Given the description of an element on the screen output the (x, y) to click on. 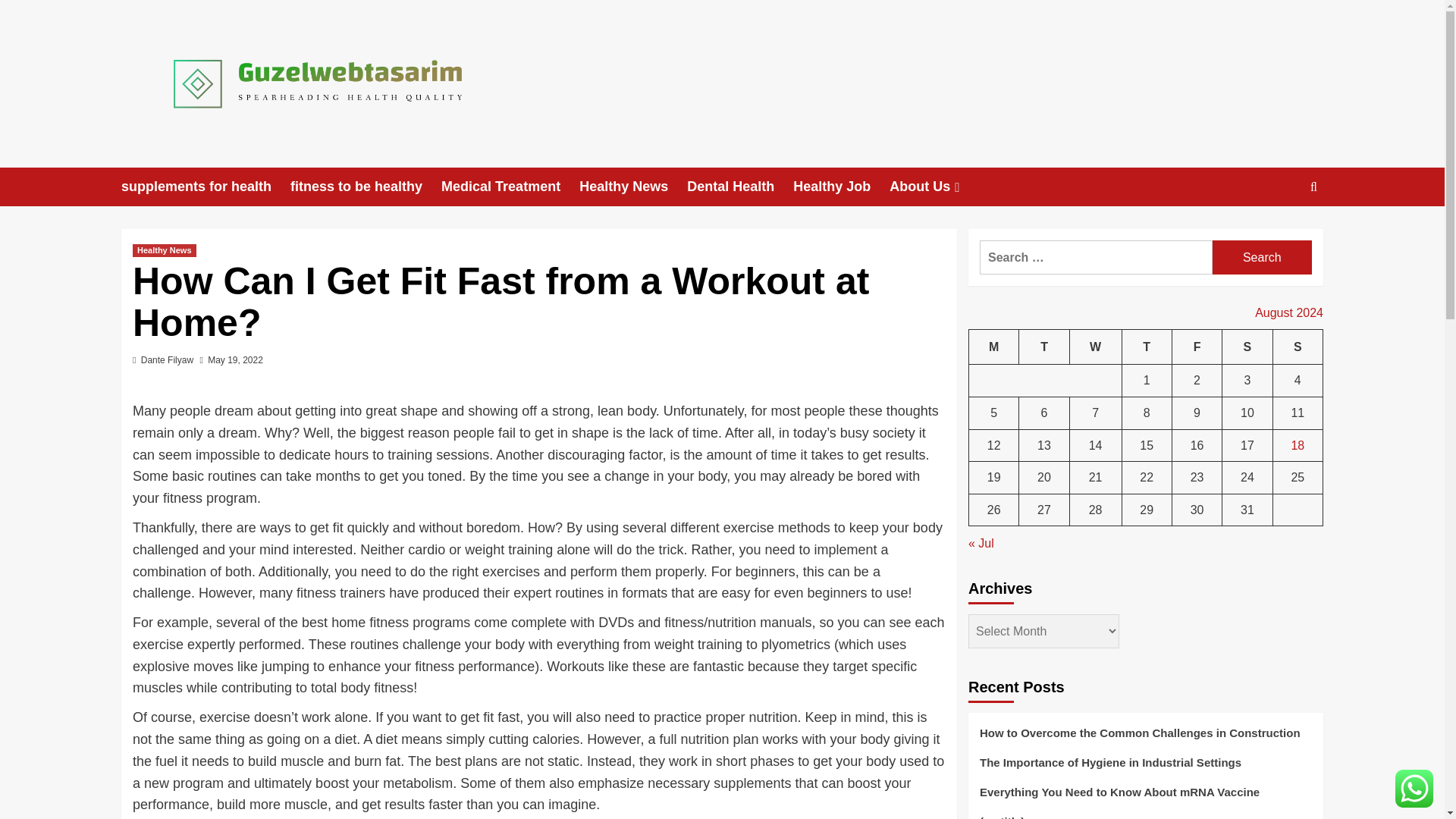
Dental Health (740, 186)
Saturday (1247, 346)
Search (1261, 257)
Dante Filyaw (167, 359)
Monday (994, 346)
supplements for health (204, 186)
Friday (1196, 346)
Search (1261, 257)
Healthy News (633, 186)
Wednesday (1094, 346)
